Given the description of an element on the screen output the (x, y) to click on. 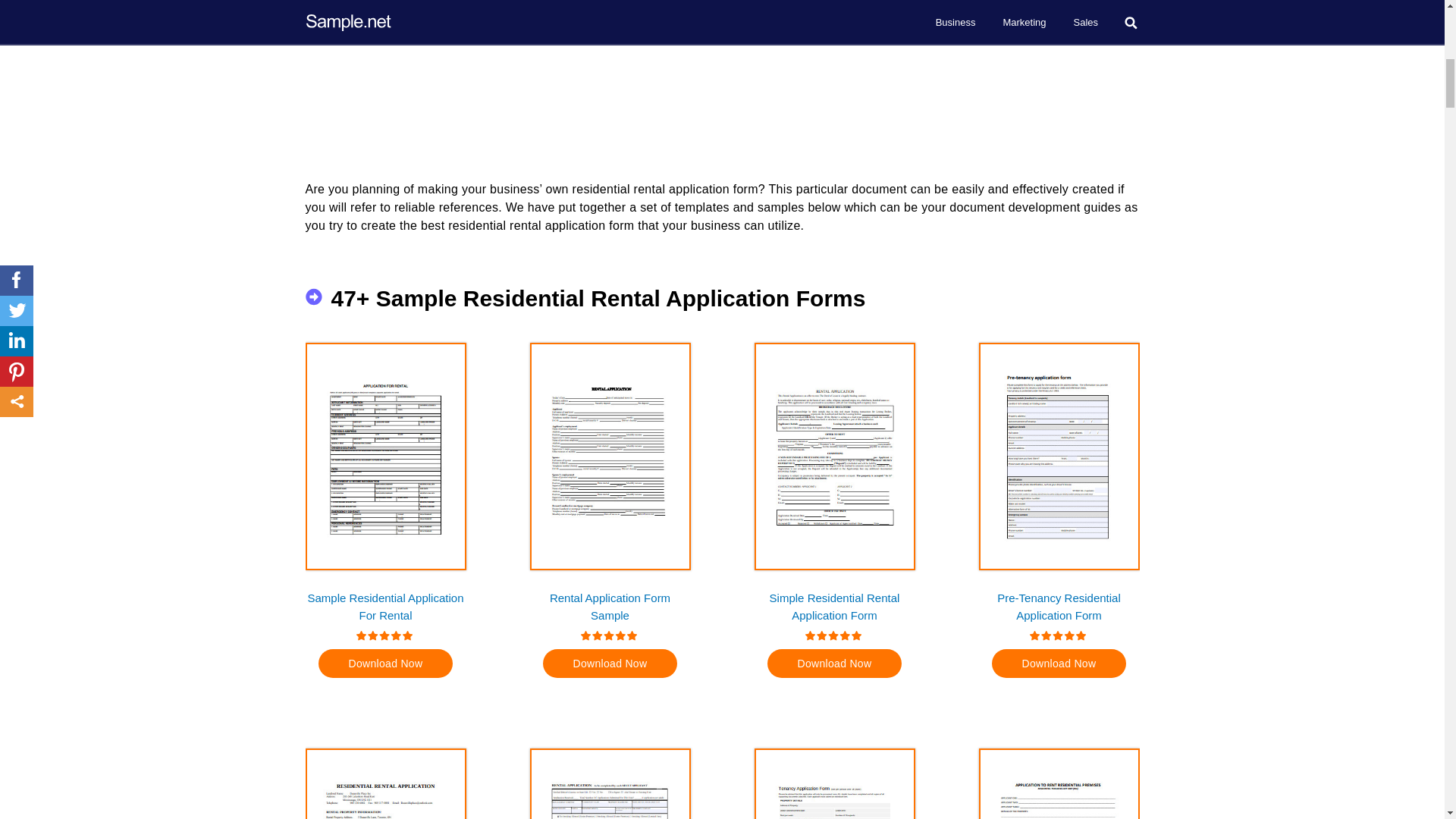
Download Now (385, 663)
Sample Residential Application For Rental (384, 605)
Rental Application Form Sample (609, 605)
Download Now (1058, 663)
Pre-Tenancy Residential Application Form (1058, 605)
Simple Residential Rental Application Form (834, 605)
Download Now (610, 663)
Download Now (834, 663)
